Given the description of an element on the screen output the (x, y) to click on. 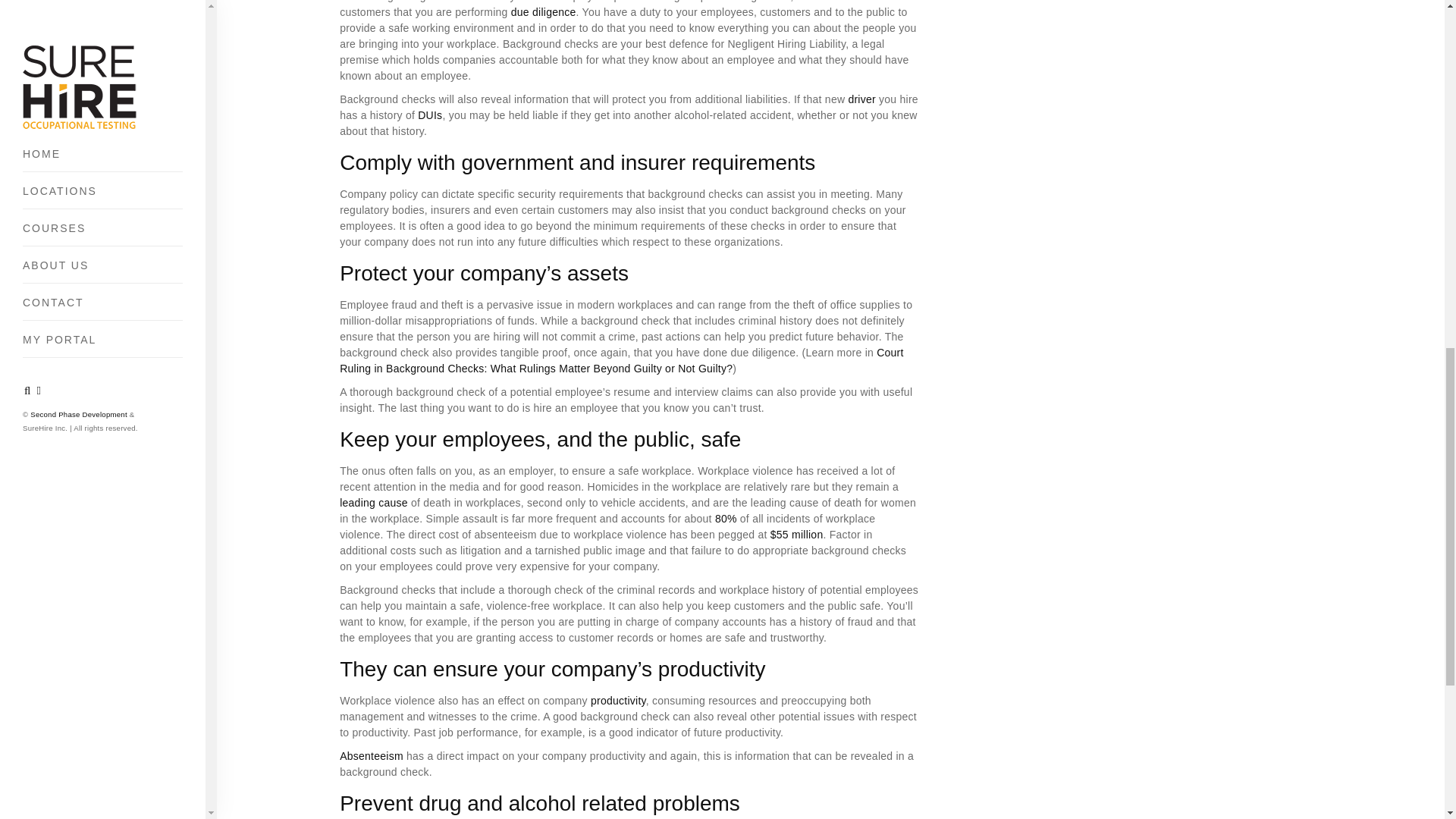
due diligence (543, 11)
leading cause (373, 502)
driver (861, 99)
Absenteeism (371, 756)
productivity (618, 700)
DUIs (429, 114)
